Given the description of an element on the screen output the (x, y) to click on. 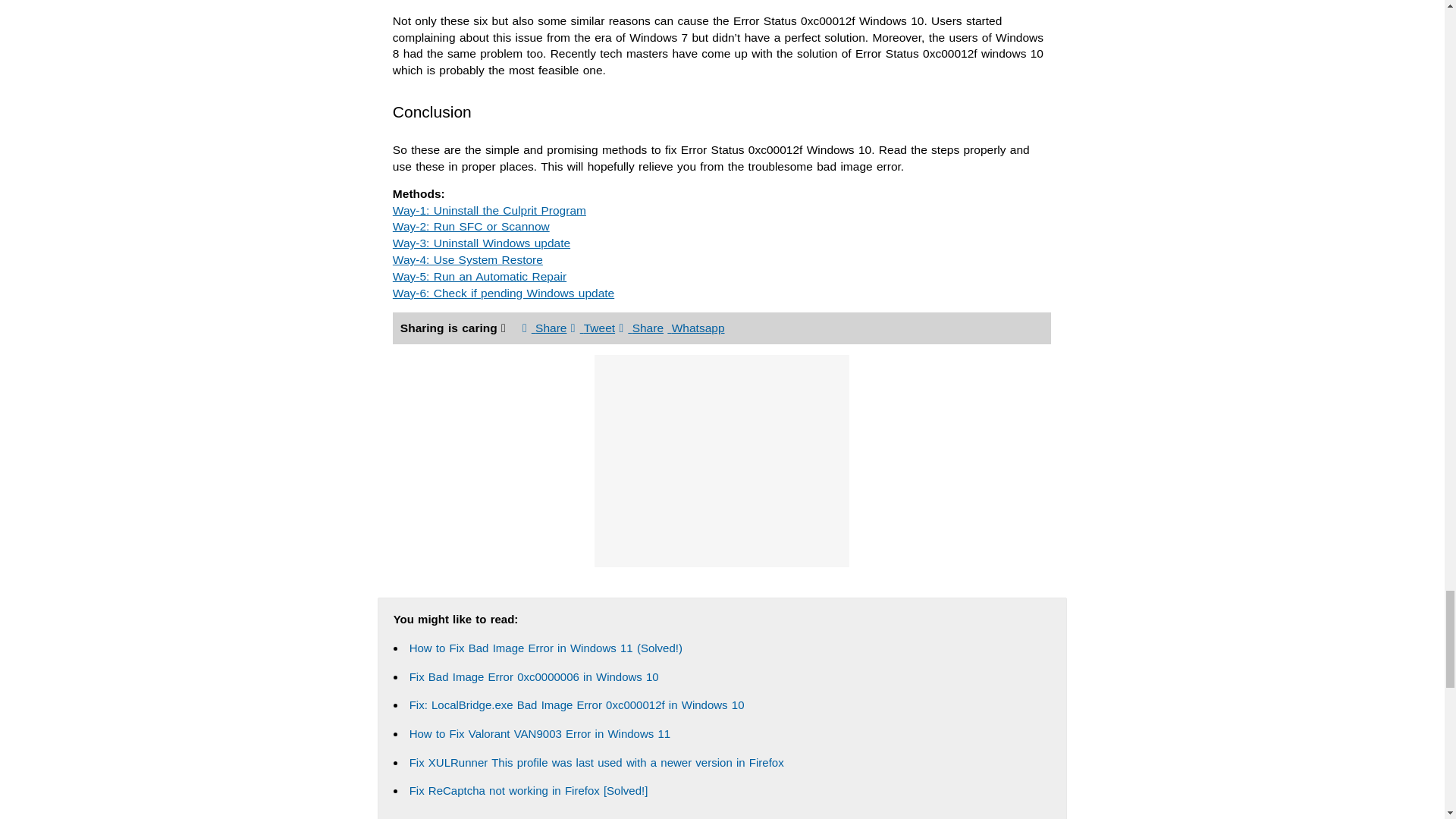
Whatsapp (694, 327)
Way-5: Run an Automatic Repair (479, 276)
Tweet (592, 327)
Way-4: Use System Restore (468, 259)
Way-3: Uninstall Windows update (481, 242)
Way-1: Uninstall the Culprit Program (489, 209)
How to Fix Valorant VAN9003 Error in Windows 11 (540, 733)
Way-2: Run SFC or Scannow (471, 226)
Share (544, 327)
